Given the description of an element on the screen output the (x, y) to click on. 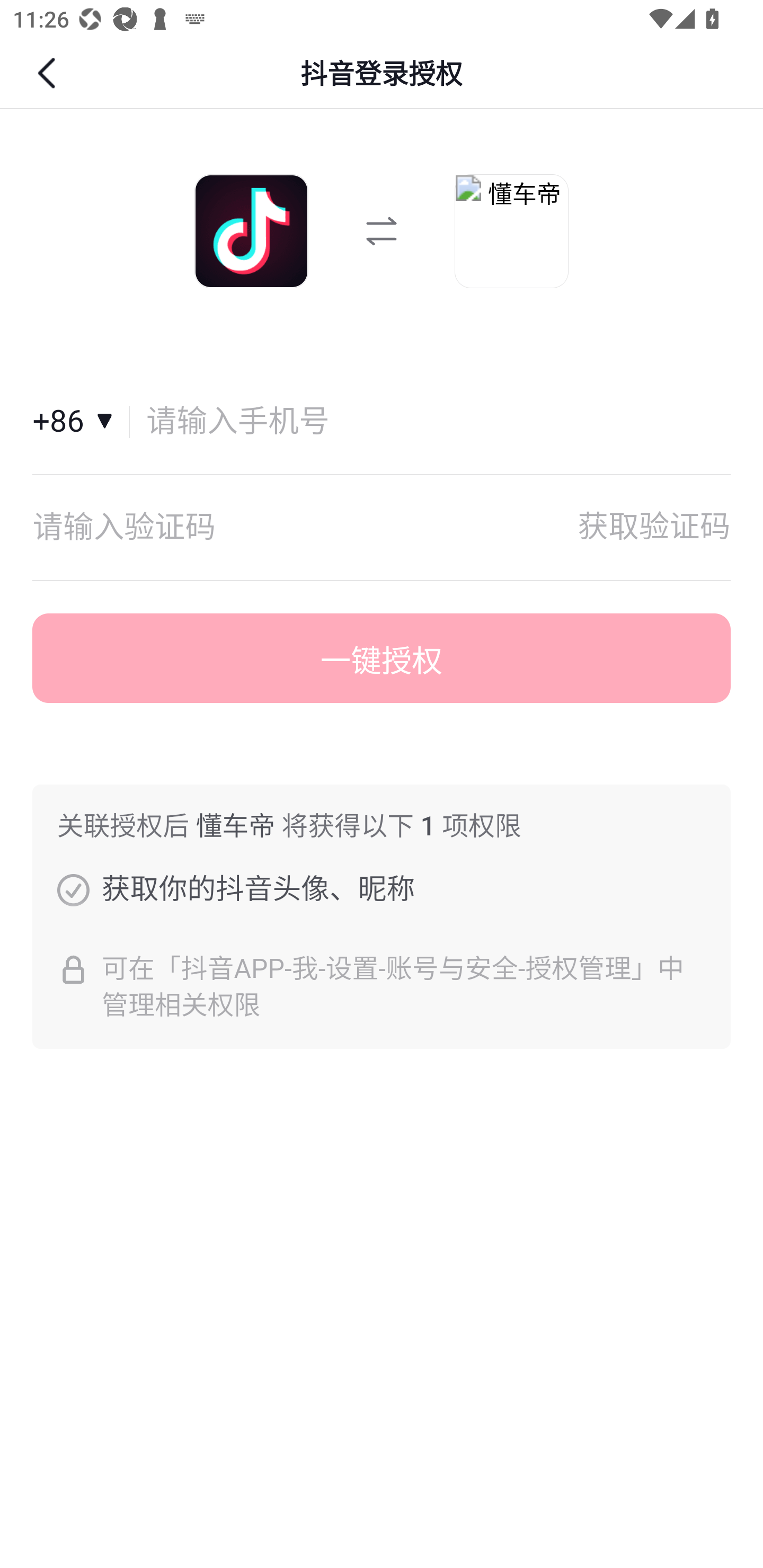
返回 (49, 72)
国家和地区+86 (81, 421)
获取验证码 (653, 526)
一键授权 (381, 658)
获取你的抖音头像、昵称 (72, 889)
